Given the description of an element on the screen output the (x, y) to click on. 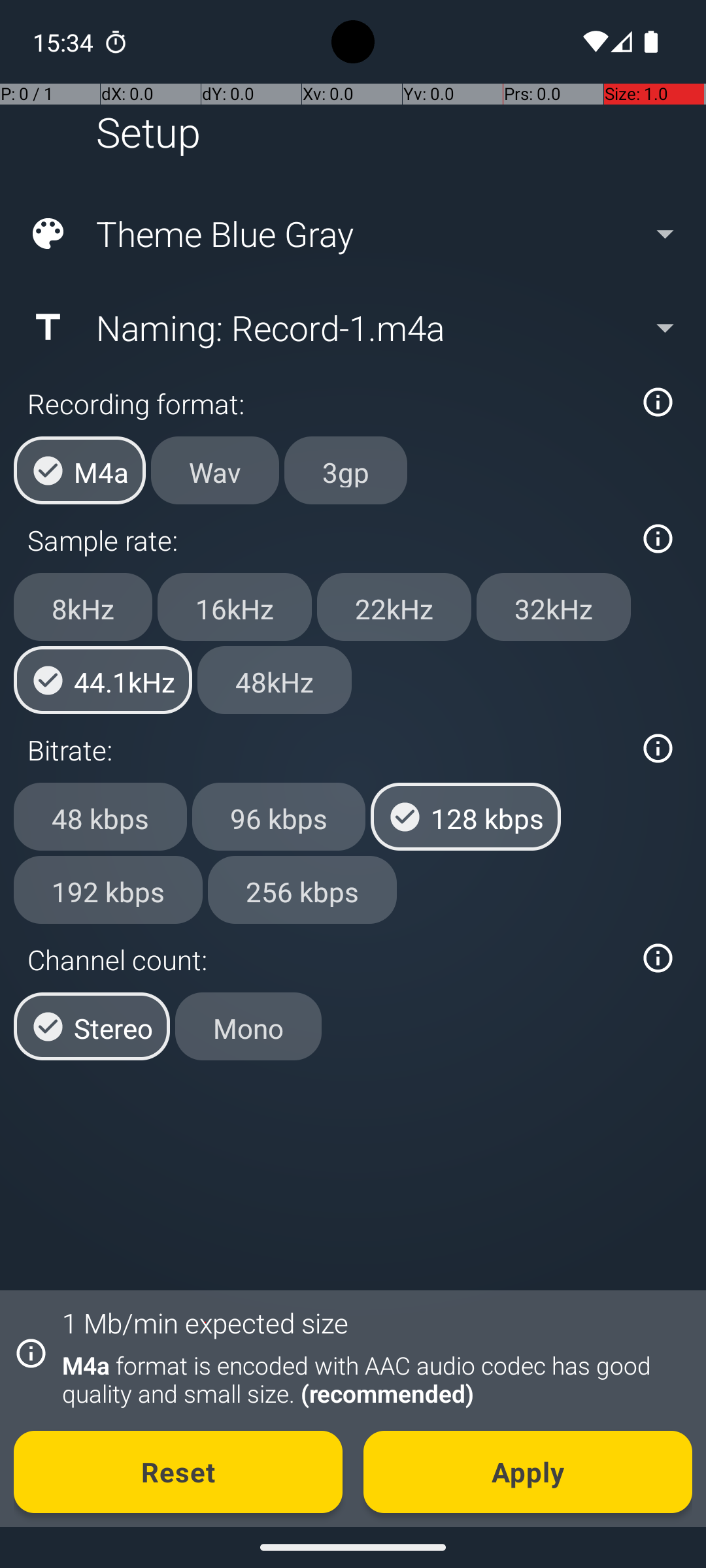
Wifi signal full. Element type: android.widget.FrameLayout (593, 41)
